Given the description of an element on the screen output the (x, y) to click on. 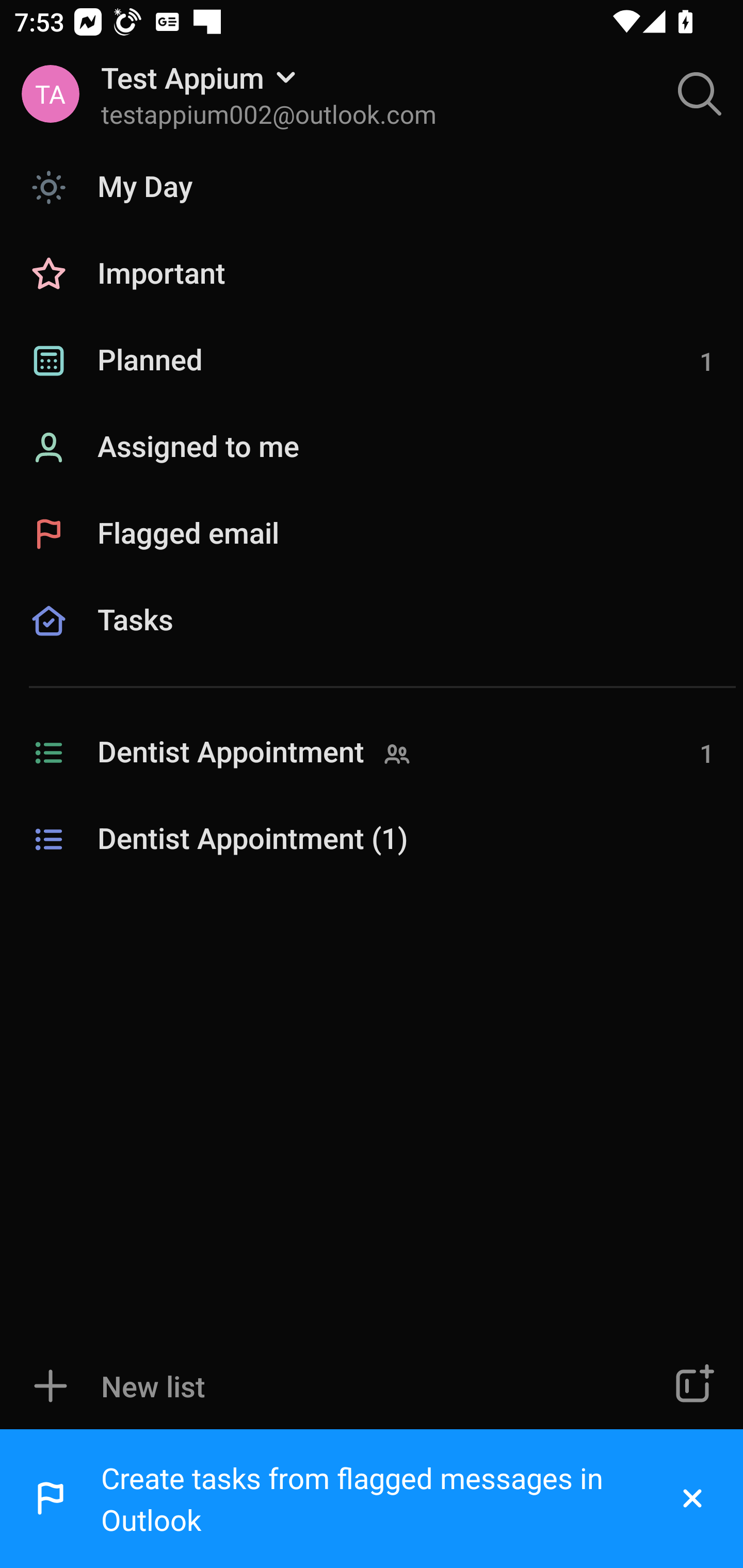
Enter search (699, 93)
My Day, 0 tasks My Day (371, 187)
Important, 0 tasks Important (371, 274)
Planned, 1 tasks Planned 1 (371, 361)
Assigned to me, 0 tasks Assigned to me (371, 447)
Flagged email (371, 533)
Tasks (371, 643)
Dentist Appointment (1) (371, 839)
New list (312, 1386)
Create group (692, 1386)
Close (692, 1498)
